Given the description of an element on the screen output the (x, y) to click on. 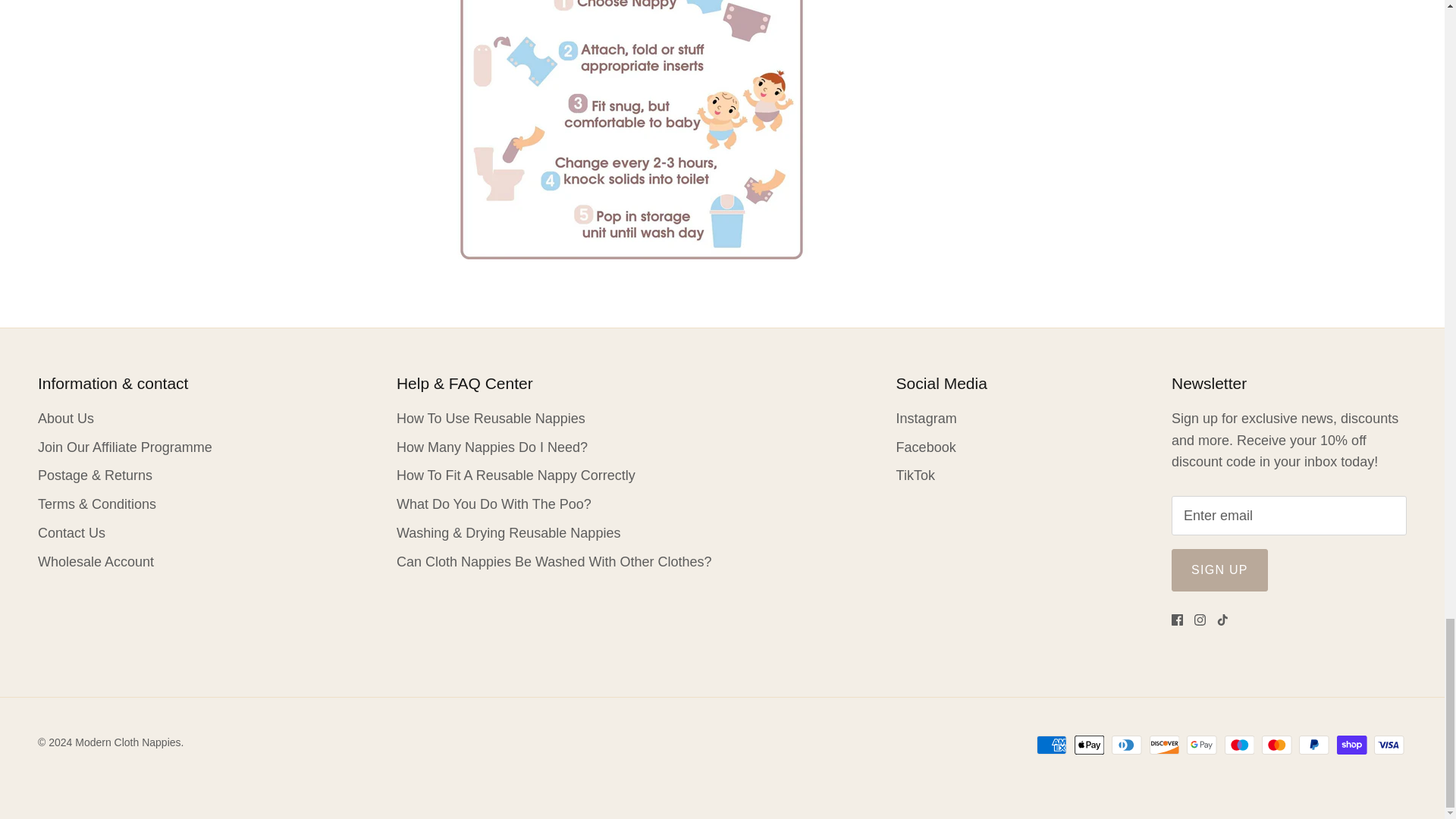
Apple Pay (1089, 744)
Google Pay (1201, 744)
Shop Pay (1351, 744)
Facebook (1177, 619)
Instagram (1199, 619)
Discover (1164, 744)
Mastercard (1276, 744)
Diners Club (1126, 744)
Visa (1388, 744)
Maestro (1239, 744)
